Given the description of an element on the screen output the (x, y) to click on. 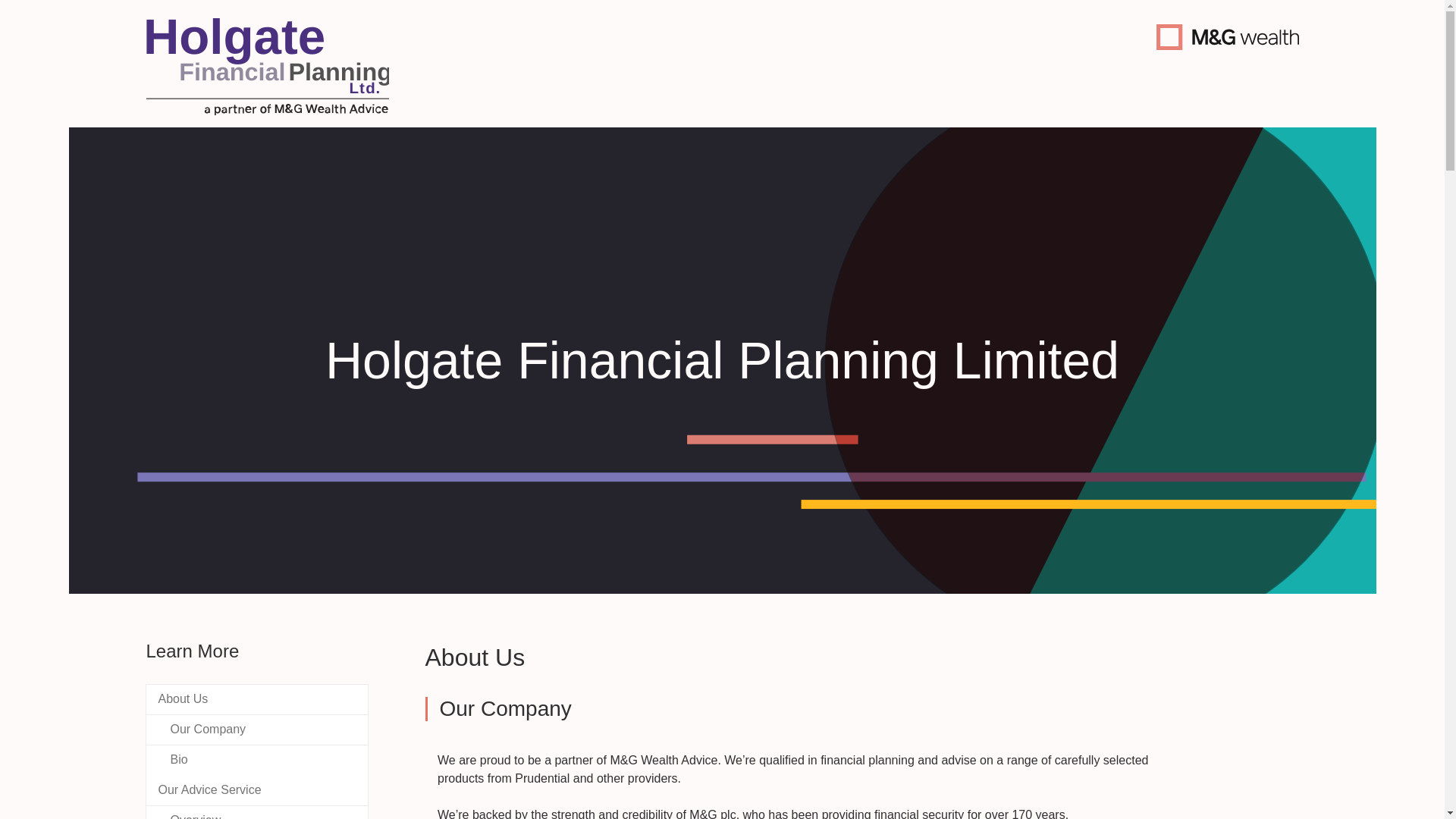
Bio (255, 760)
Overview (255, 812)
Our Company (255, 729)
About Us (255, 699)
Our Advice Service (255, 790)
About Us (810, 785)
